Given the description of an element on the screen output the (x, y) to click on. 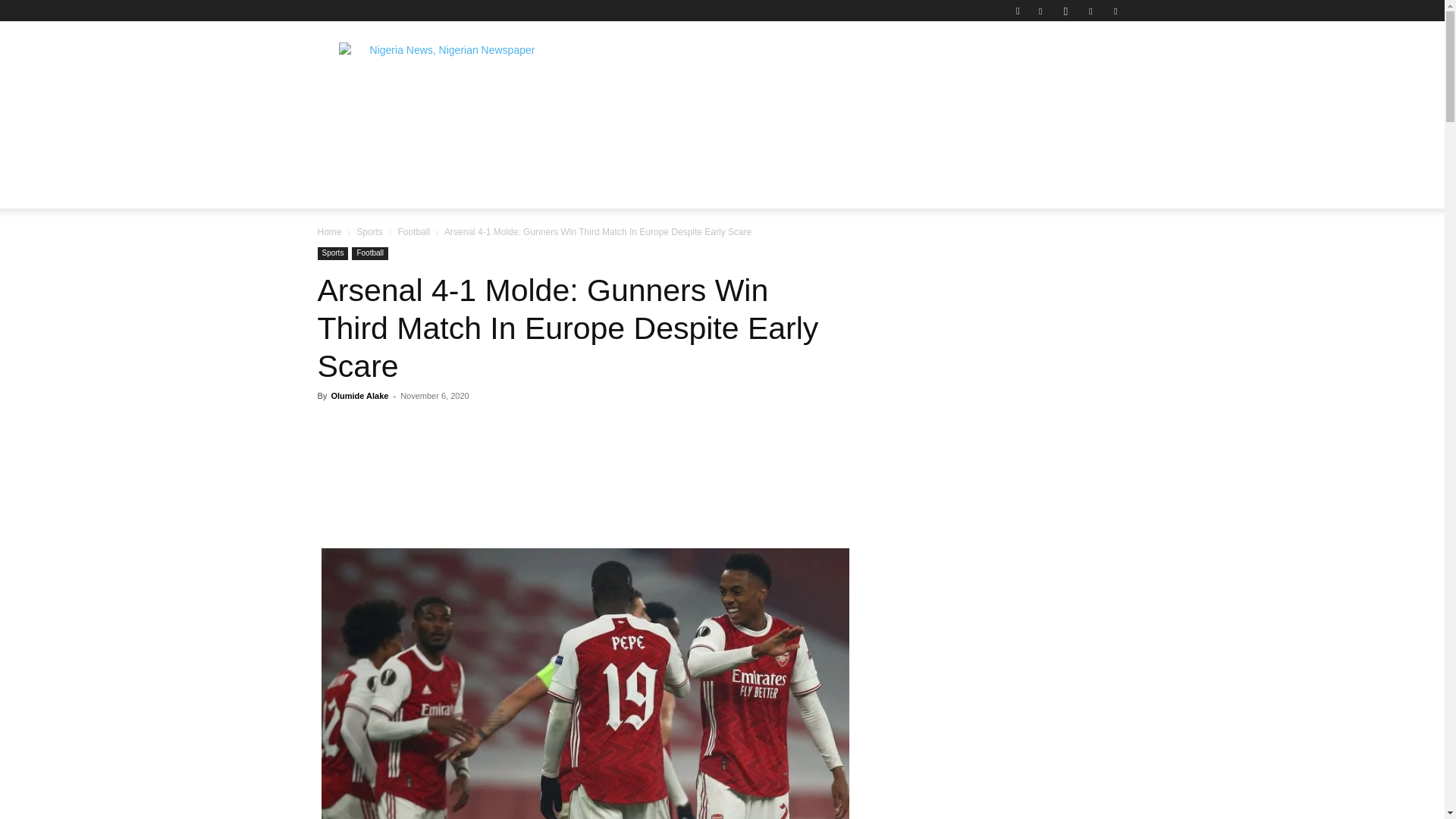
Youtube (1114, 10)
SPORTS (974, 139)
BBC PIDGIN (779, 139)
Twitter (1090, 10)
Facebook (1040, 10)
Instagram (1065, 10)
SPECIAL REPORTS (660, 139)
HOME (347, 139)
View all posts in Sports (369, 231)
METRO NEWS (884, 139)
